Given the description of an element on the screen output the (x, y) to click on. 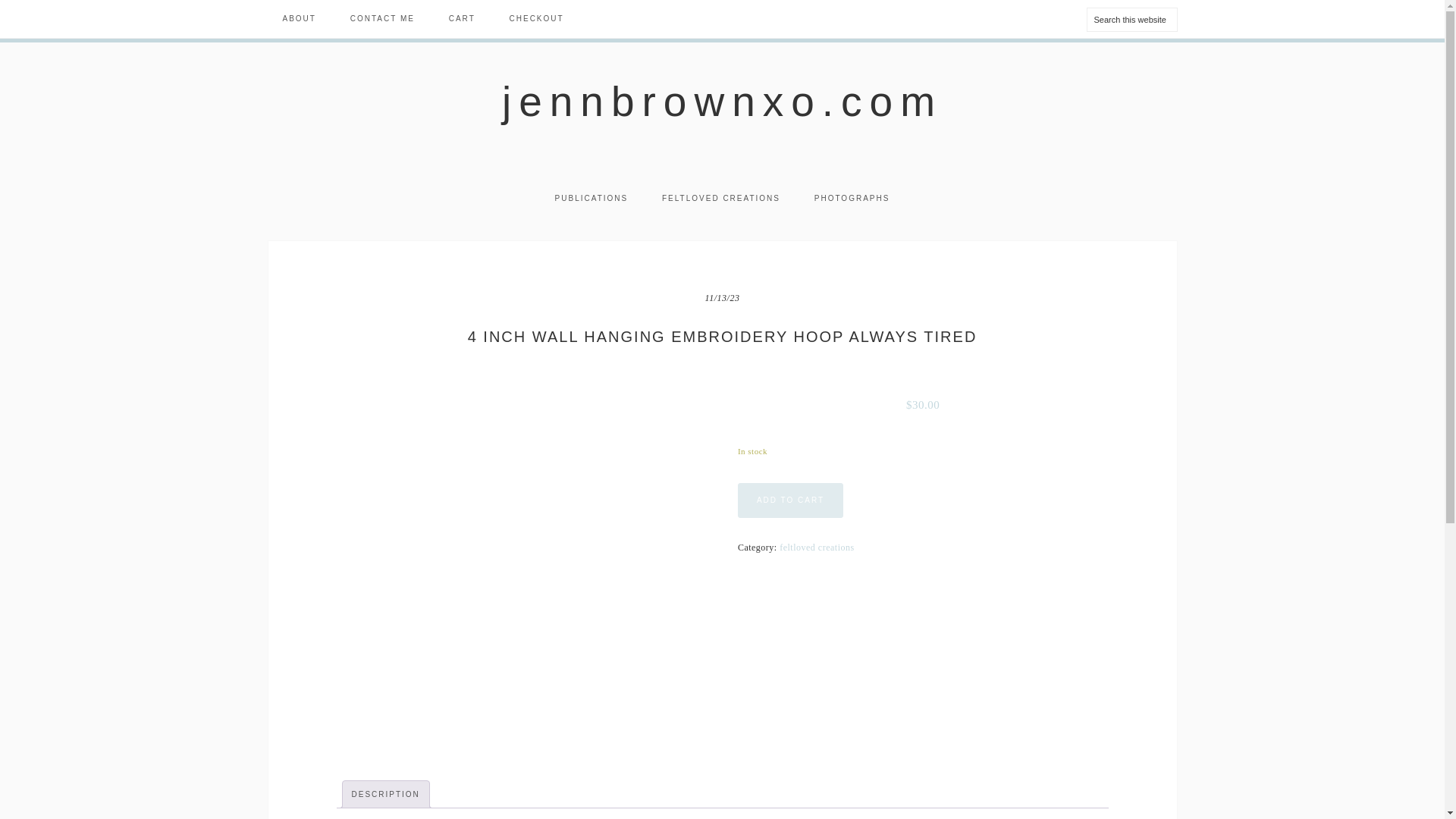
DESCRIPTION (386, 794)
CONTACT ME (381, 18)
ABOUT (298, 18)
FELTLOVED CREATIONS (720, 198)
PUBLICATIONS (591, 198)
CHECKOUT (537, 18)
ADD TO CART (790, 500)
